Given the description of an element on the screen output the (x, y) to click on. 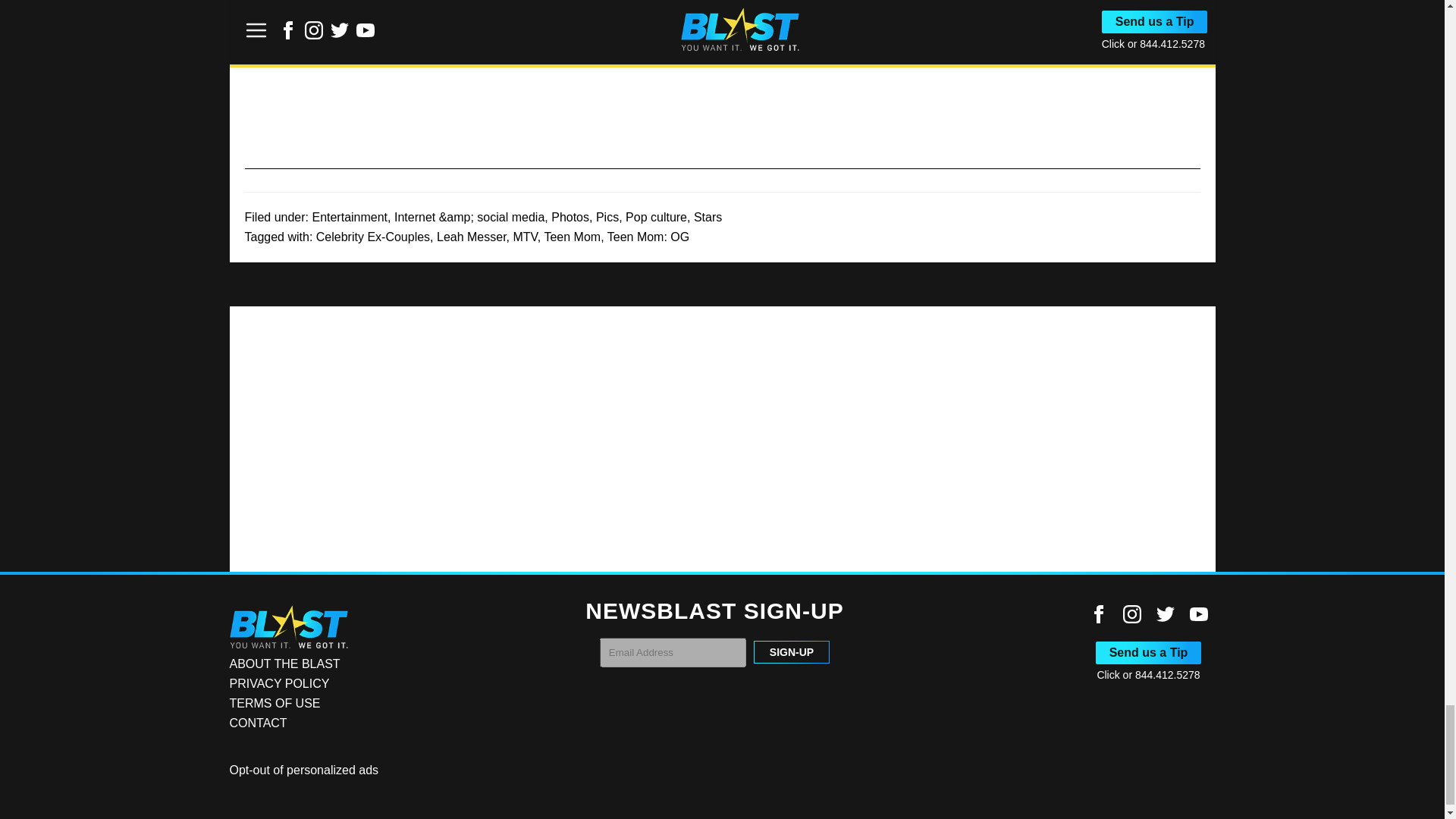
Stars (708, 216)
Photos (570, 216)
Link to Facebook (1097, 614)
Teen Mom: OG (647, 236)
Leah Messer (471, 236)
Celebrity Ex-Couples (372, 236)
Link to Youtube (1198, 614)
Pics (606, 216)
Link to Instagram (1131, 614)
Pop culture (656, 216)
